Given the description of an element on the screen output the (x, y) to click on. 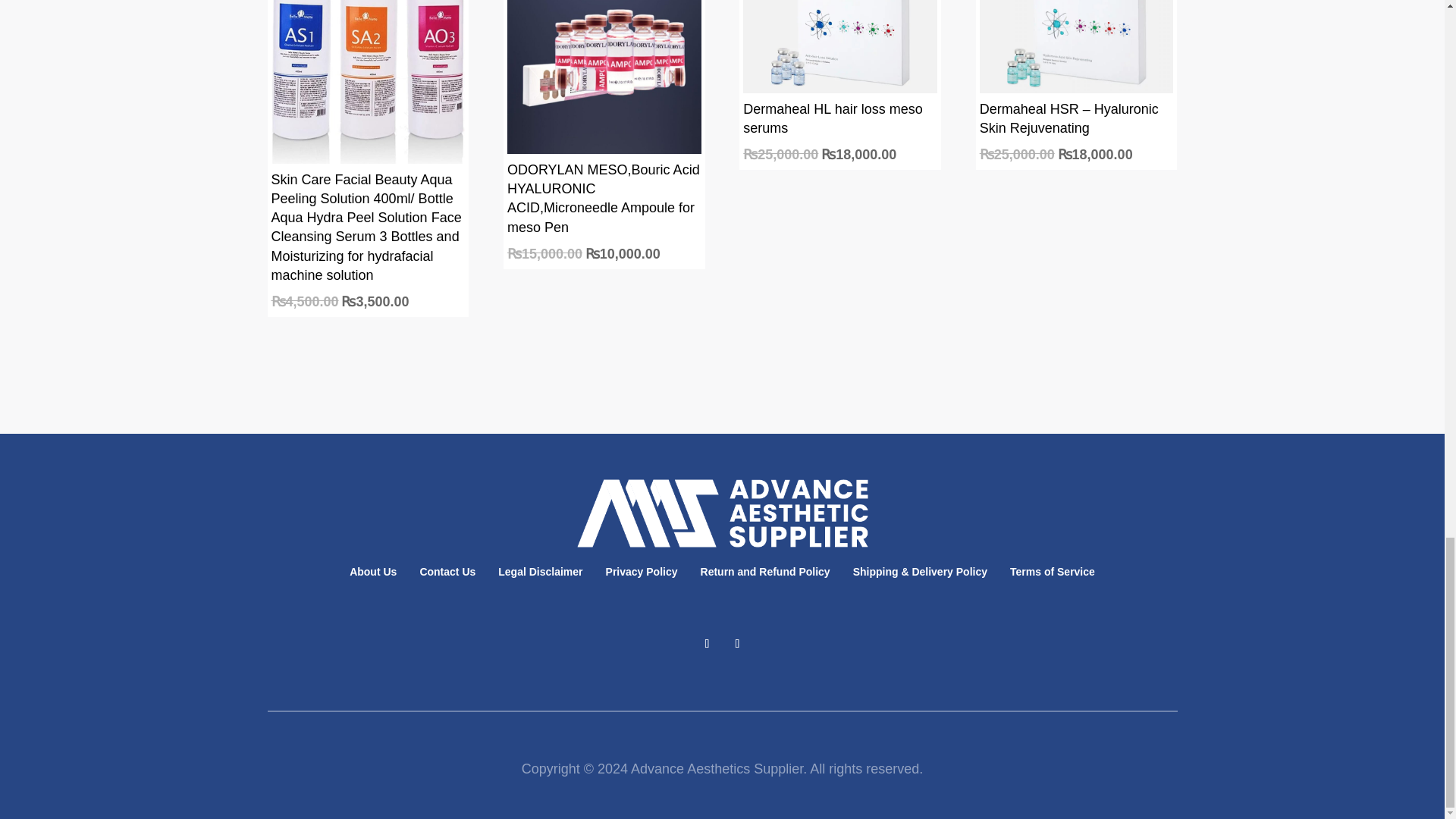
Follow on Instagram (737, 643)
Follow on Facebook (706, 643)
logo-white (721, 513)
